Given the description of an element on the screen output the (x, y) to click on. 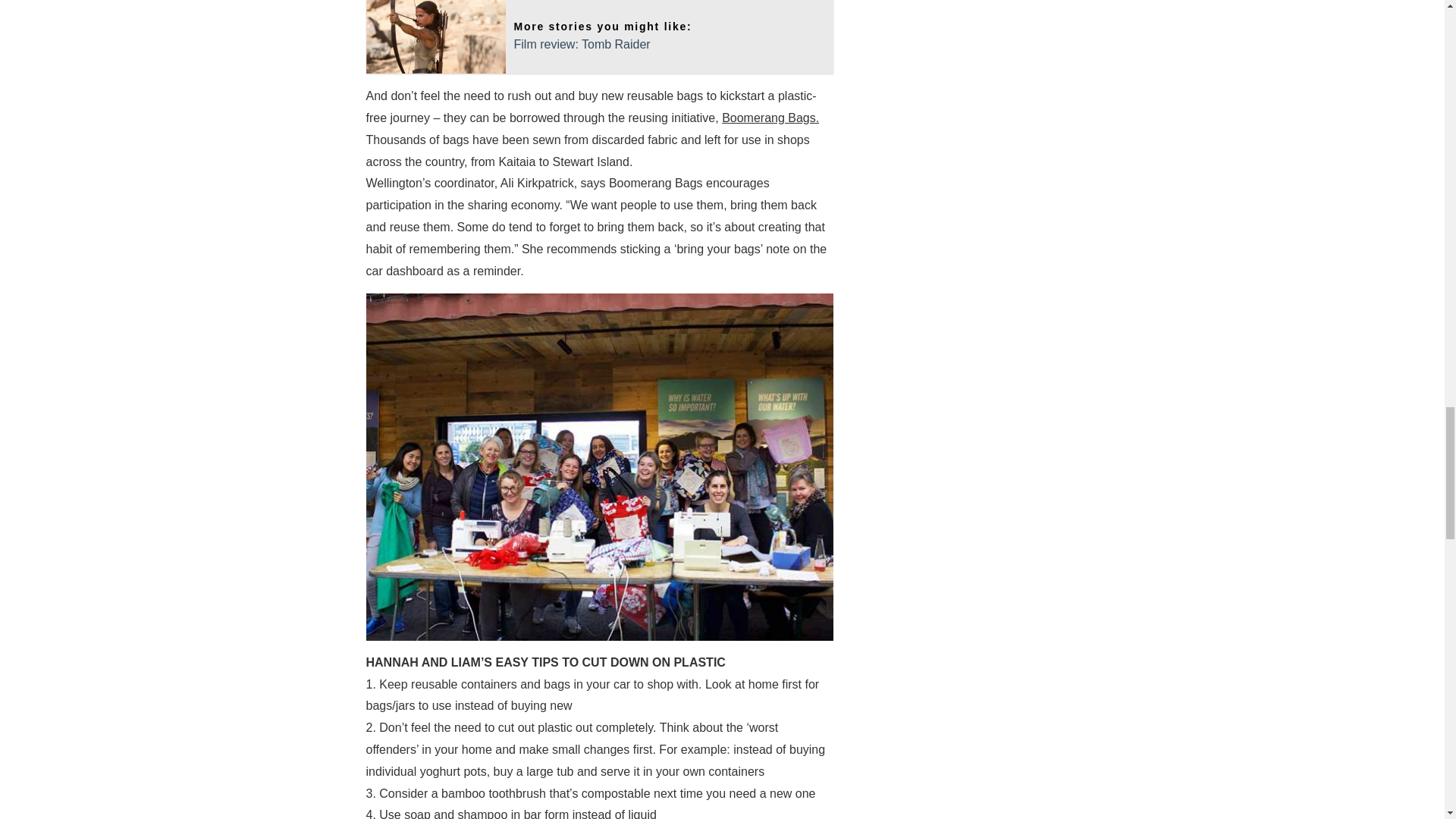
Boomerang Bags. (770, 117)
